Given the description of an element on the screen output the (x, y) to click on. 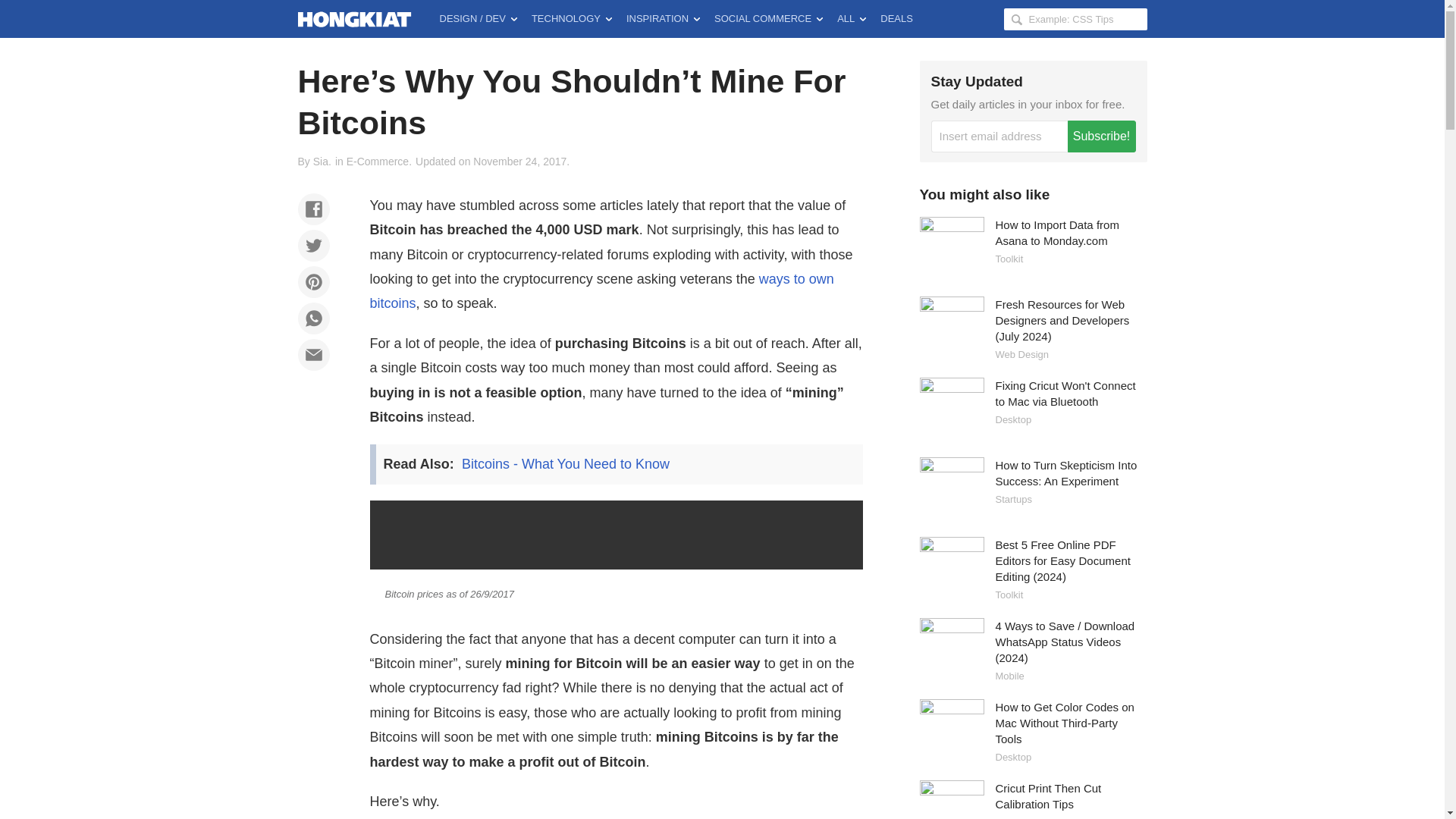
Web Design (1021, 354)
Subscribe! (1101, 136)
Startups (1012, 499)
Search Hongkiat for (1075, 18)
E-Commerce (377, 161)
INSPIRATION (662, 18)
Bitcoins - What You Need to Know (565, 463)
TECHNOLOGY (571, 18)
Fixing Cricut Won't Connect to Mac via Bluetooth (1064, 393)
Desktop (1012, 419)
Toolkit (1008, 258)
SOCIAL COMMERCE (767, 18)
ways to own bitcoins (601, 291)
DEALS (896, 18)
Sia (321, 161)
